Given the description of an element on the screen output the (x, y) to click on. 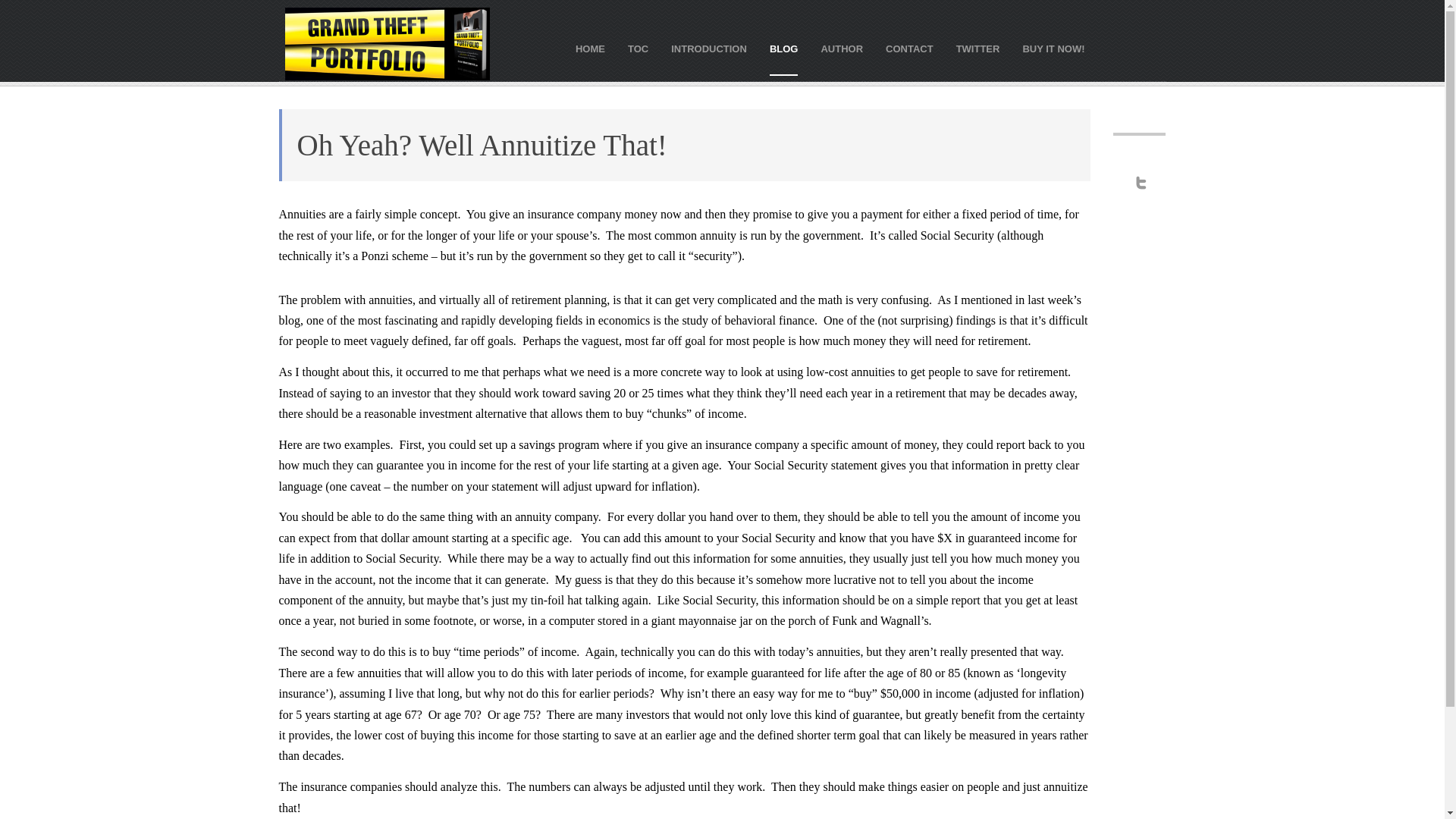
INTRODUCTION (708, 49)
CONTACT (909, 49)
BUY IT NOW! (1053, 49)
